Given the description of an element on the screen output the (x, y) to click on. 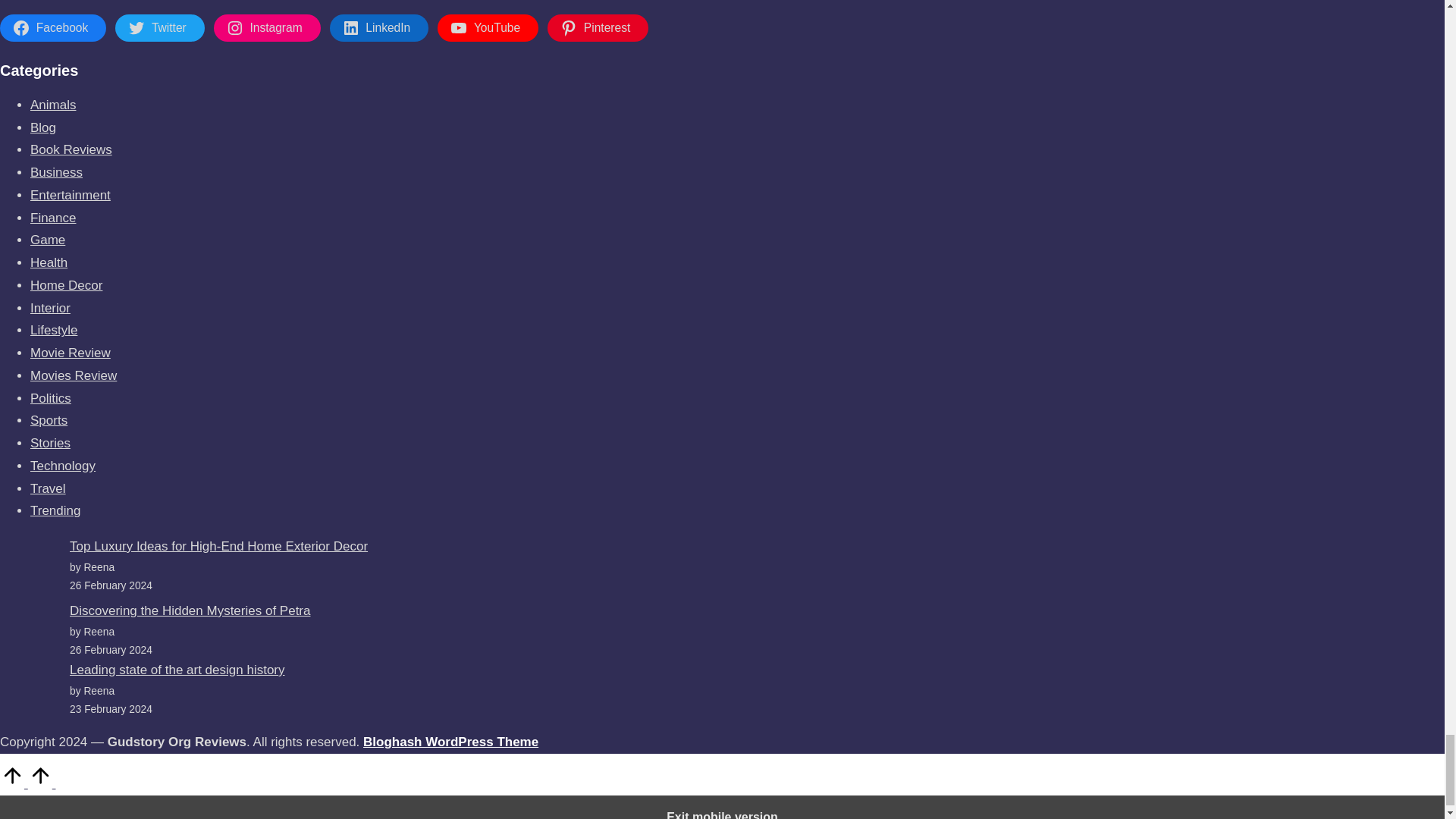
Scroll to Top (27, 783)
